Given the description of an element on the screen output the (x, y) to click on. 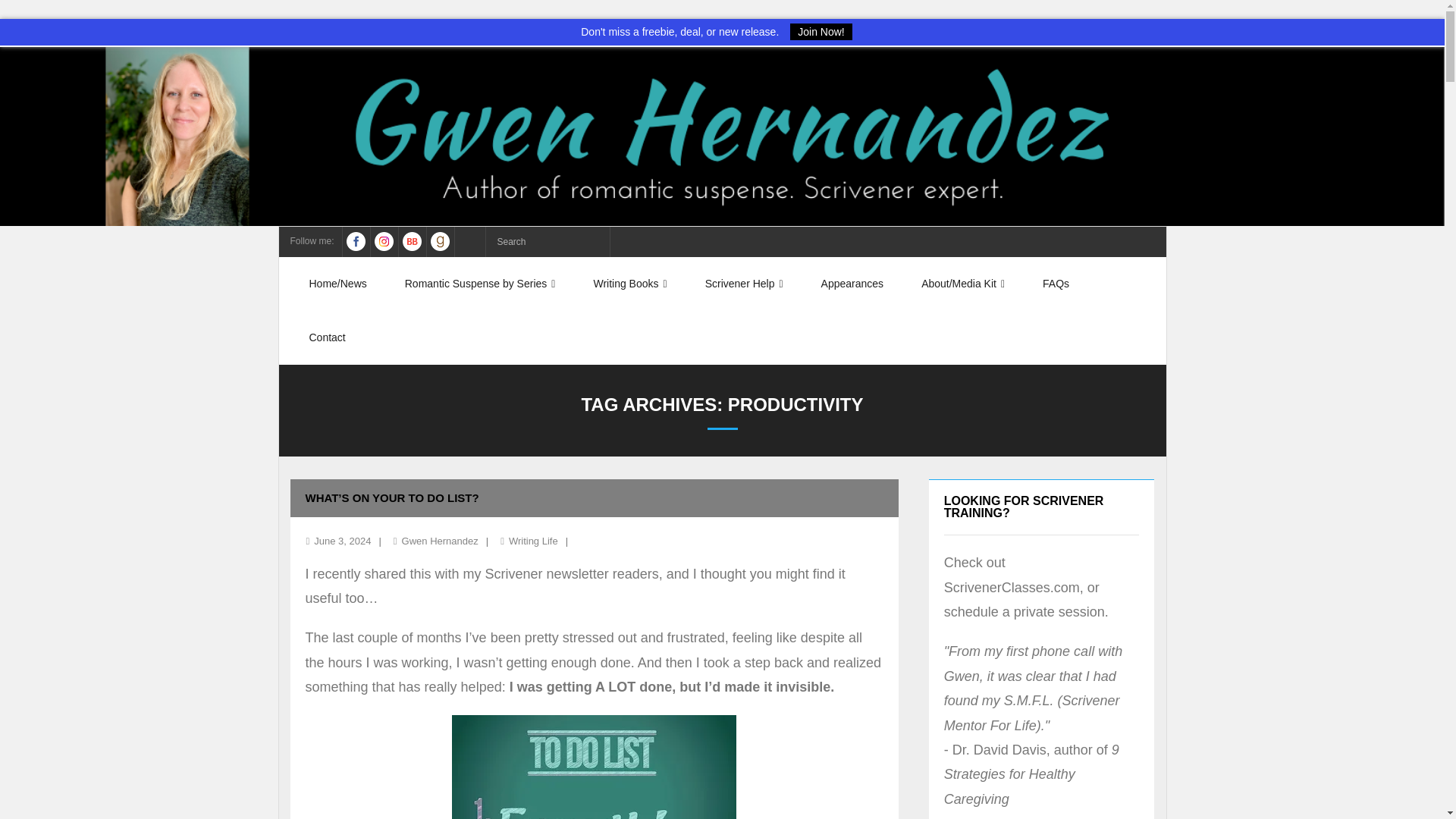
Join Now! (820, 31)
View all posts by Gwen Hernandez (440, 541)
FAQs (1055, 284)
Appearances (852, 284)
Romantic Suspense by Series (480, 284)
Contact (326, 337)
Scrivener Help (743, 284)
Writing Books (629, 284)
Search (33, 15)
